Given the description of an element on the screen output the (x, y) to click on. 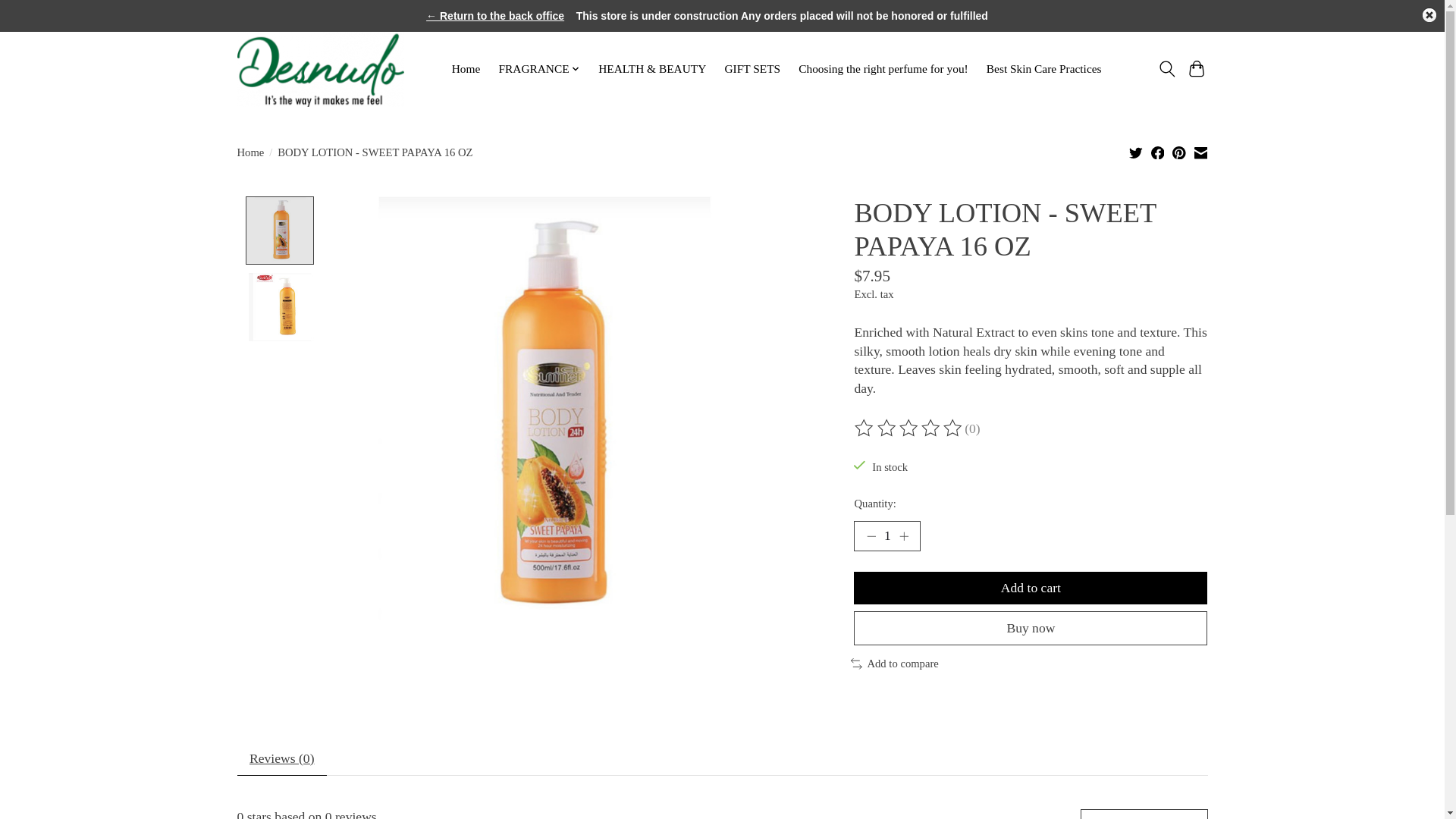
SHARE ON FACEBOOK (1157, 154)
Desnudo (319, 69)
SHARE ON PINTEREST (1179, 154)
SHARE ON TWITTER (1135, 154)
Home (249, 151)
SHARE BY EMAIL (1200, 151)
Buy now (1030, 627)
Add your review (1144, 814)
1 (886, 535)
SHARE BY EMAIL (1200, 154)
Best Skin Care Practices (1043, 68)
FRAGRANCE (539, 68)
Home (466, 68)
SHARE ON TWITTER (1135, 151)
SHARE ON FACEBOOK (1157, 151)
